Given the description of an element on the screen output the (x, y) to click on. 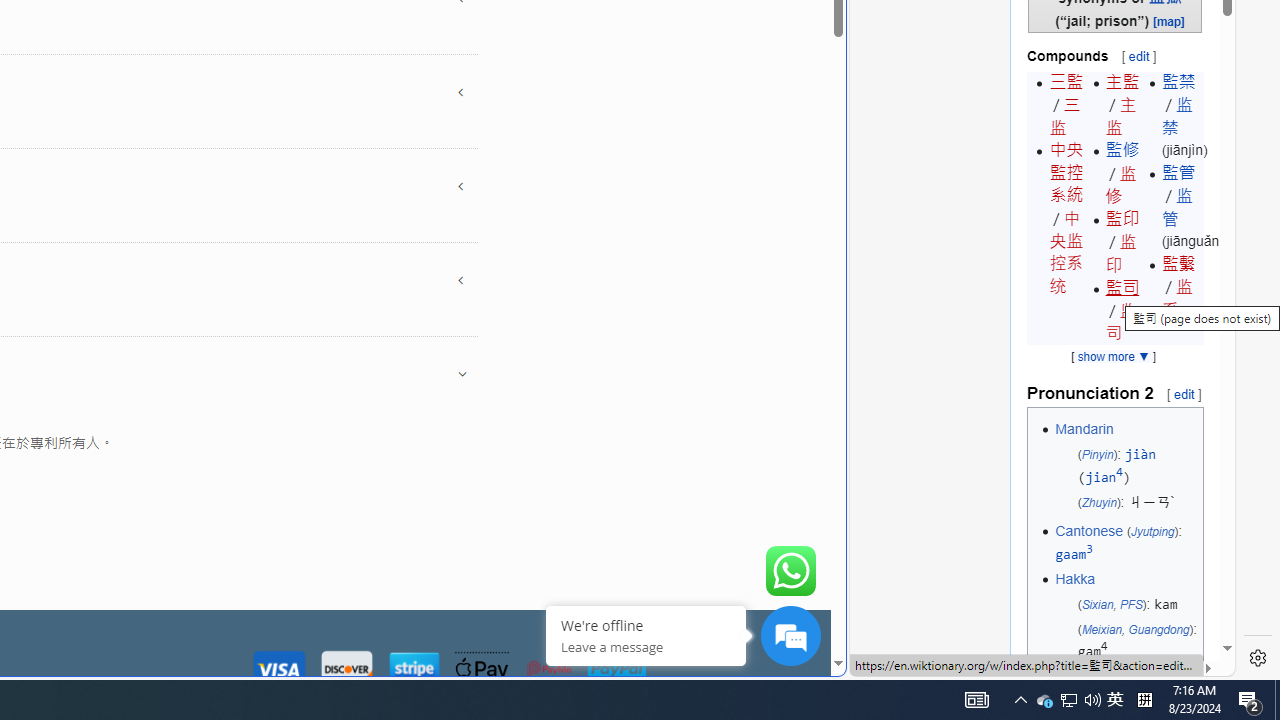
PFS (1130, 603)
Mandarin (1083, 428)
Hakka (1074, 578)
Actions for this site (1129, 306)
gaam3 (1073, 554)
Jyutping (1152, 531)
Guangdong (1158, 628)
